Given the description of an element on the screen output the (x, y) to click on. 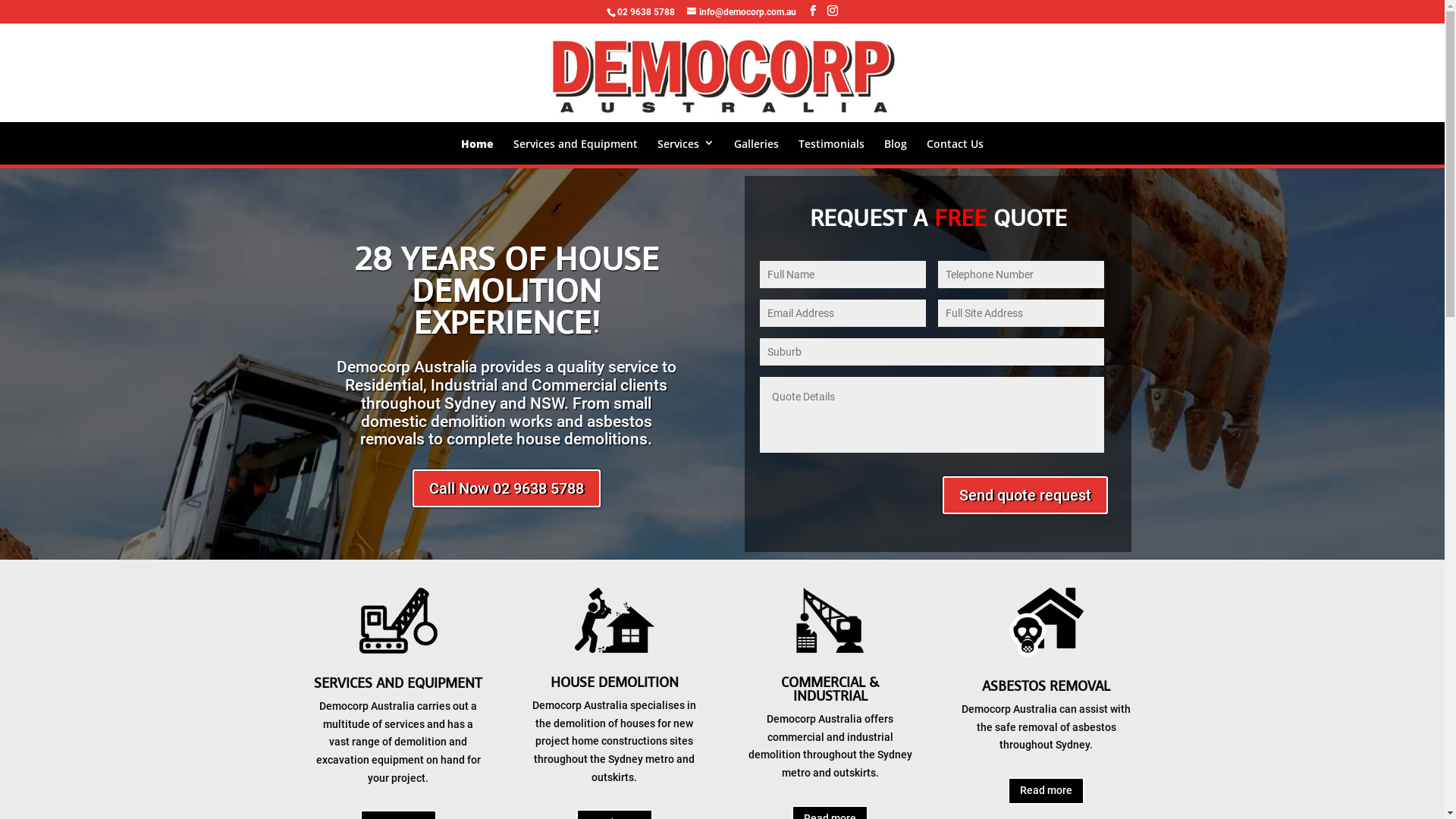
Contact Us Element type: text (954, 143)
Send quote request Element type: text (1024, 495)
Galleries Element type: text (756, 143)
02 9638 5788 Element type: text (645, 11)
Read more Element type: text (1045, 790)
Home Element type: text (477, 143)
info@democorp.com.au Element type: text (741, 11)
Testimonials Element type: text (831, 143)
Services and Equipment Element type: text (575, 143)
Services Element type: text (686, 143)
Call Now 02 9638 5788 Element type: text (506, 488)
Blog Element type: text (895, 143)
